Given the description of an element on the screen output the (x, y) to click on. 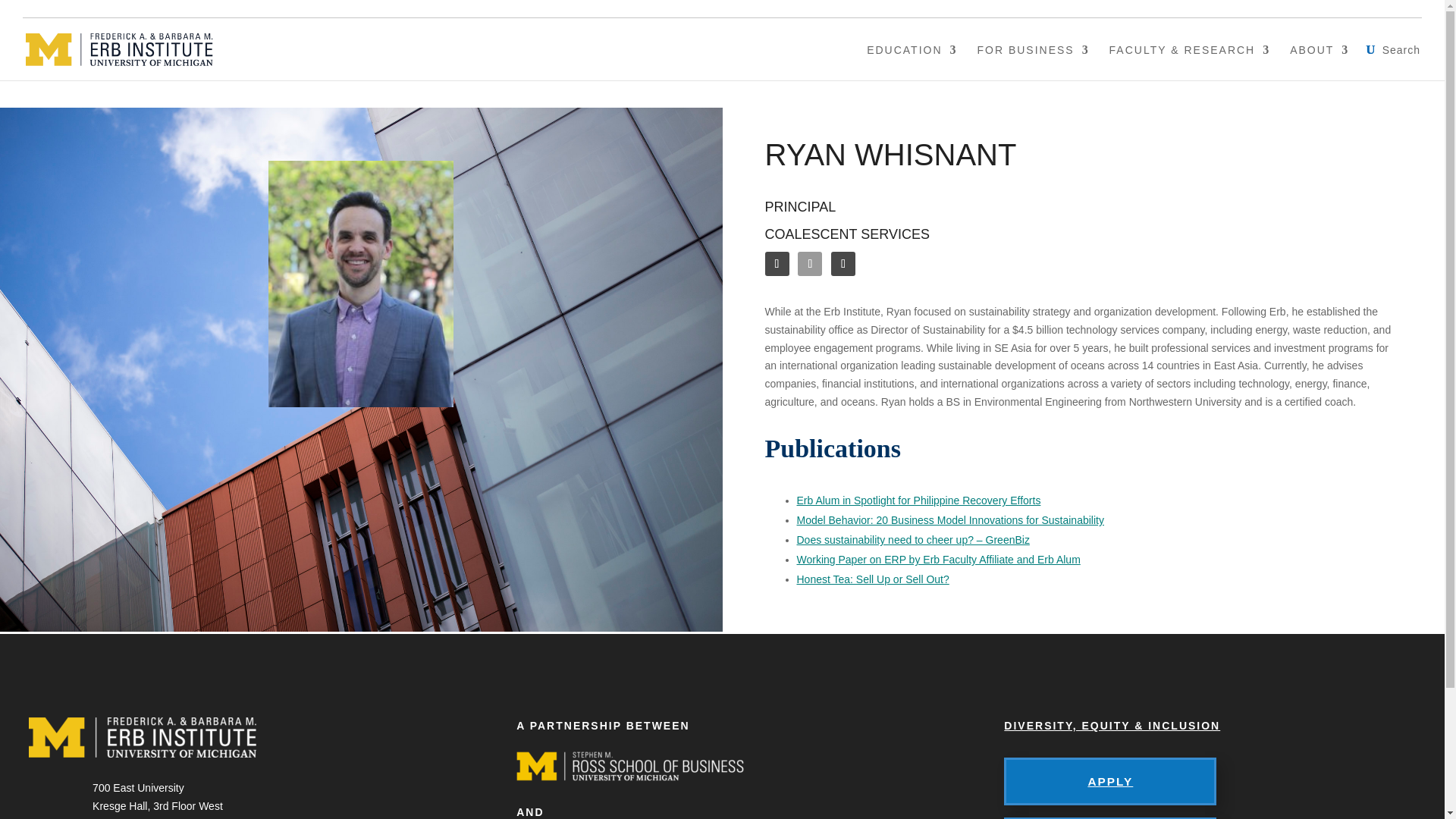
Follow on Twitter (809, 263)
Go to Website (843, 263)
FOR BUSINESS (1032, 61)
Calendar (1234, 8)
Follow on LinkedIn (776, 263)
RyanWhisnant (359, 283)
Giving (1306, 8)
ABOUT (1319, 61)
Links for (1387, 8)
EDUCATION (911, 61)
